Given the description of an element on the screen output the (x, y) to click on. 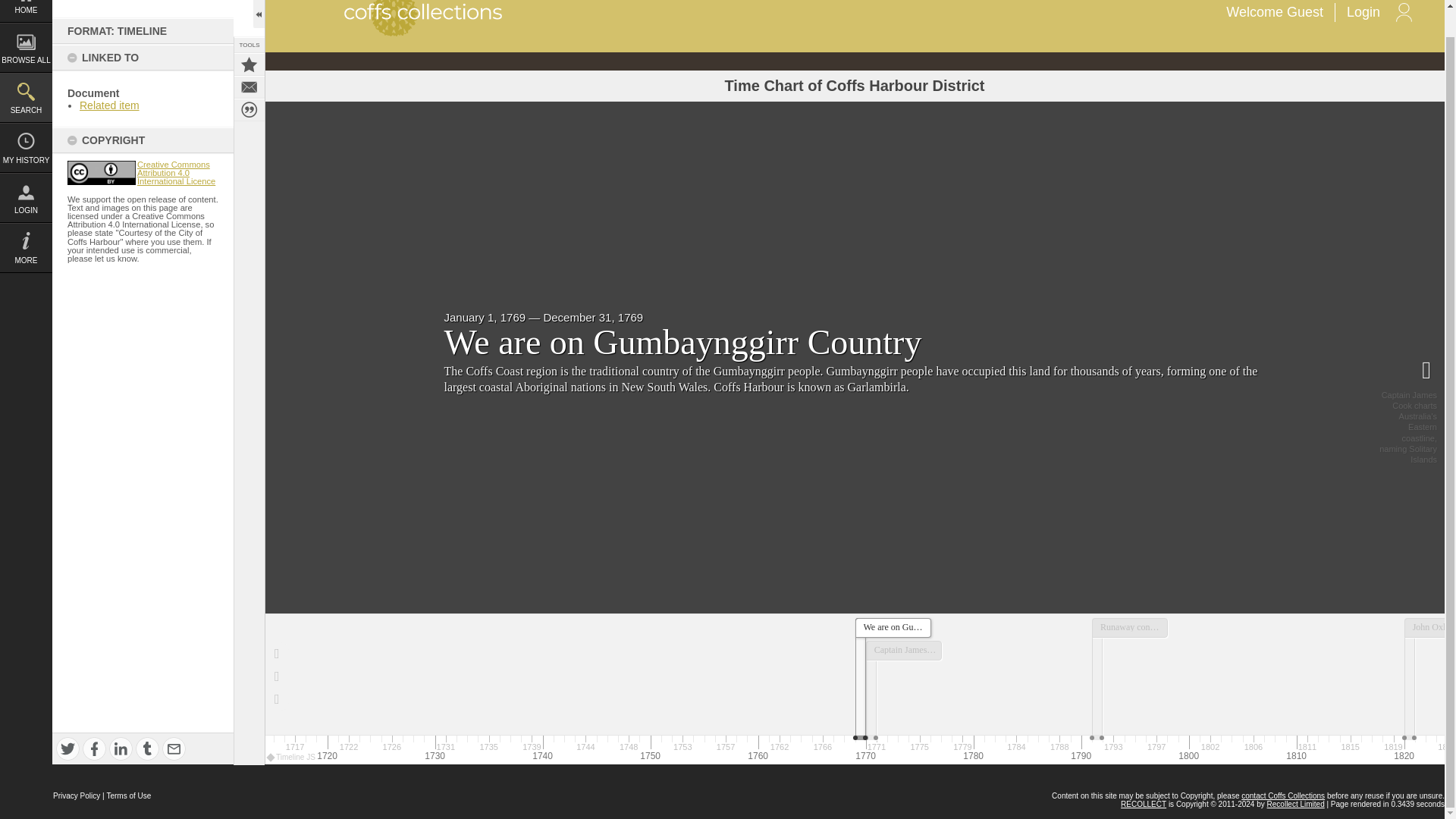
Share this on Facebook (94, 748)
Tweet this on Twitter (68, 748)
SEARCH (26, 97)
Login (1366, 12)
MY HISTORY (26, 147)
MORE (26, 247)
Add to My Collection (249, 64)
Share this on LinkedIn (120, 748)
Guest (1305, 11)
Share this on Tumblr (146, 748)
Citation for this item (249, 109)
11 (100, 172)
BROWSE ALL (26, 47)
Contact us about this (249, 87)
Creative Commons Attribution 4.0 International Licence (175, 172)
